Given the description of an element on the screen output the (x, y) to click on. 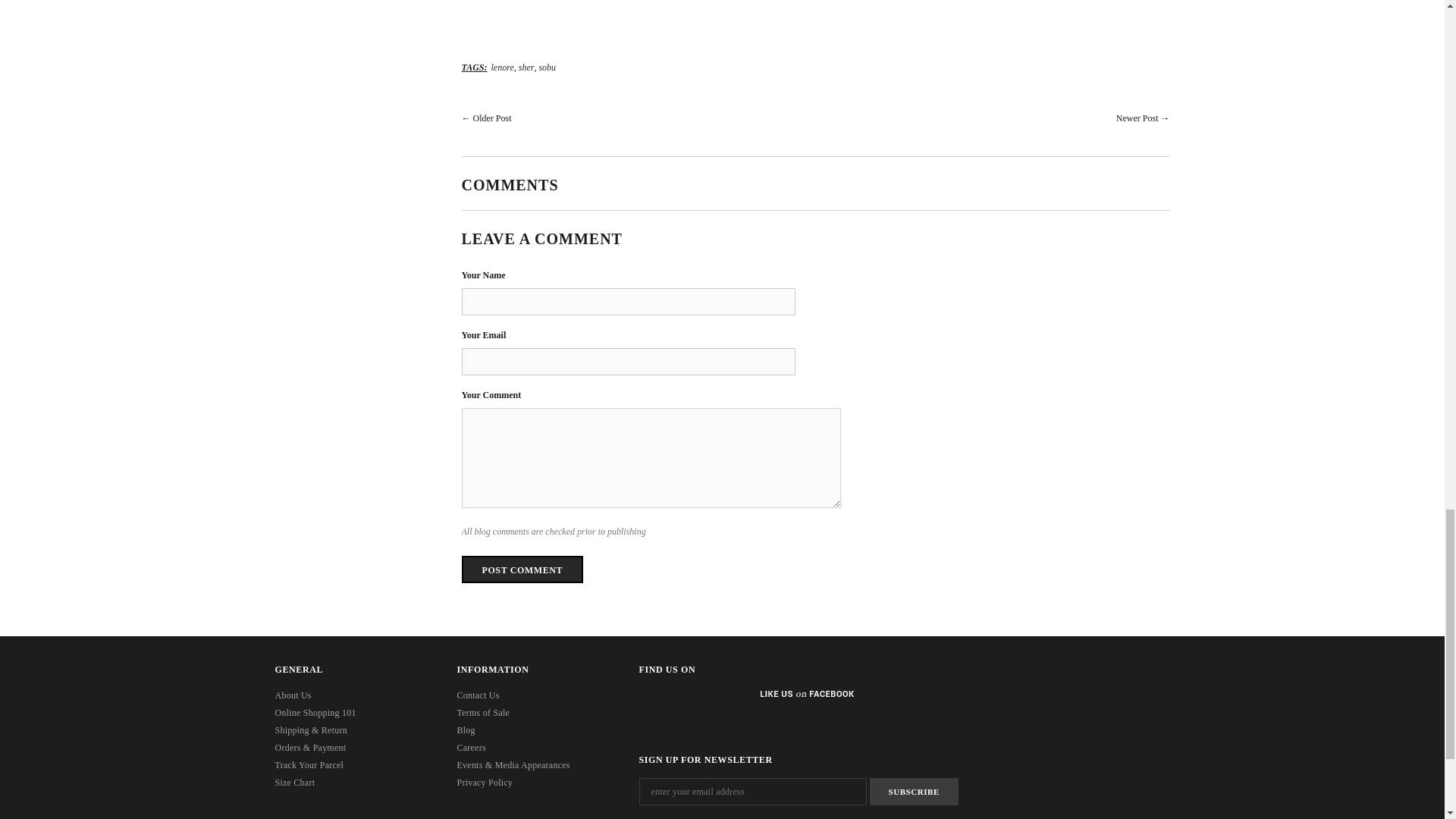
Post Comment (522, 569)
Subscribe (913, 791)
